Given the description of an element on the screen output the (x, y) to click on. 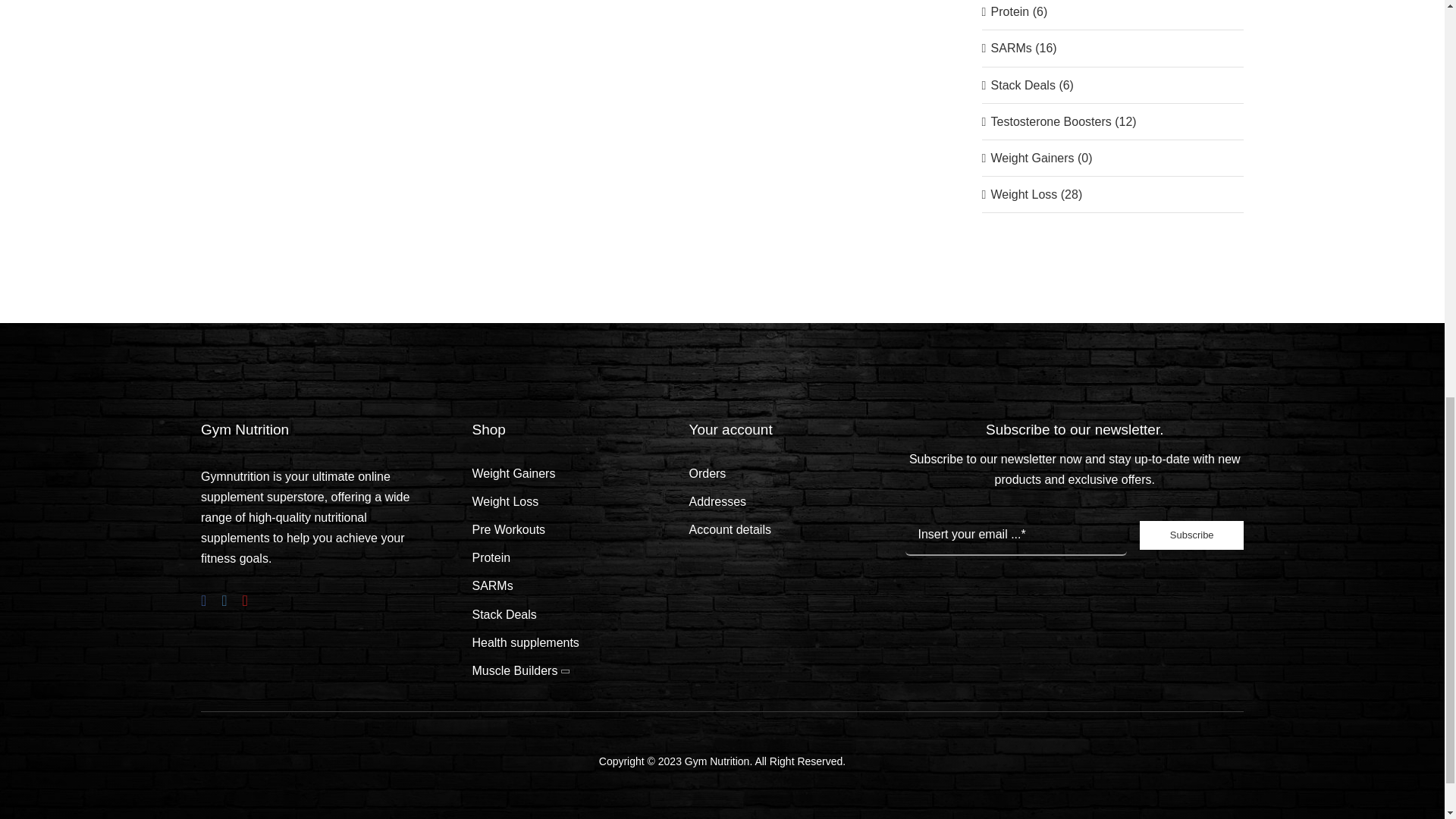
Subscribe (1074, 542)
Payment options (1074, 606)
